Given the description of an element on the screen output the (x, y) to click on. 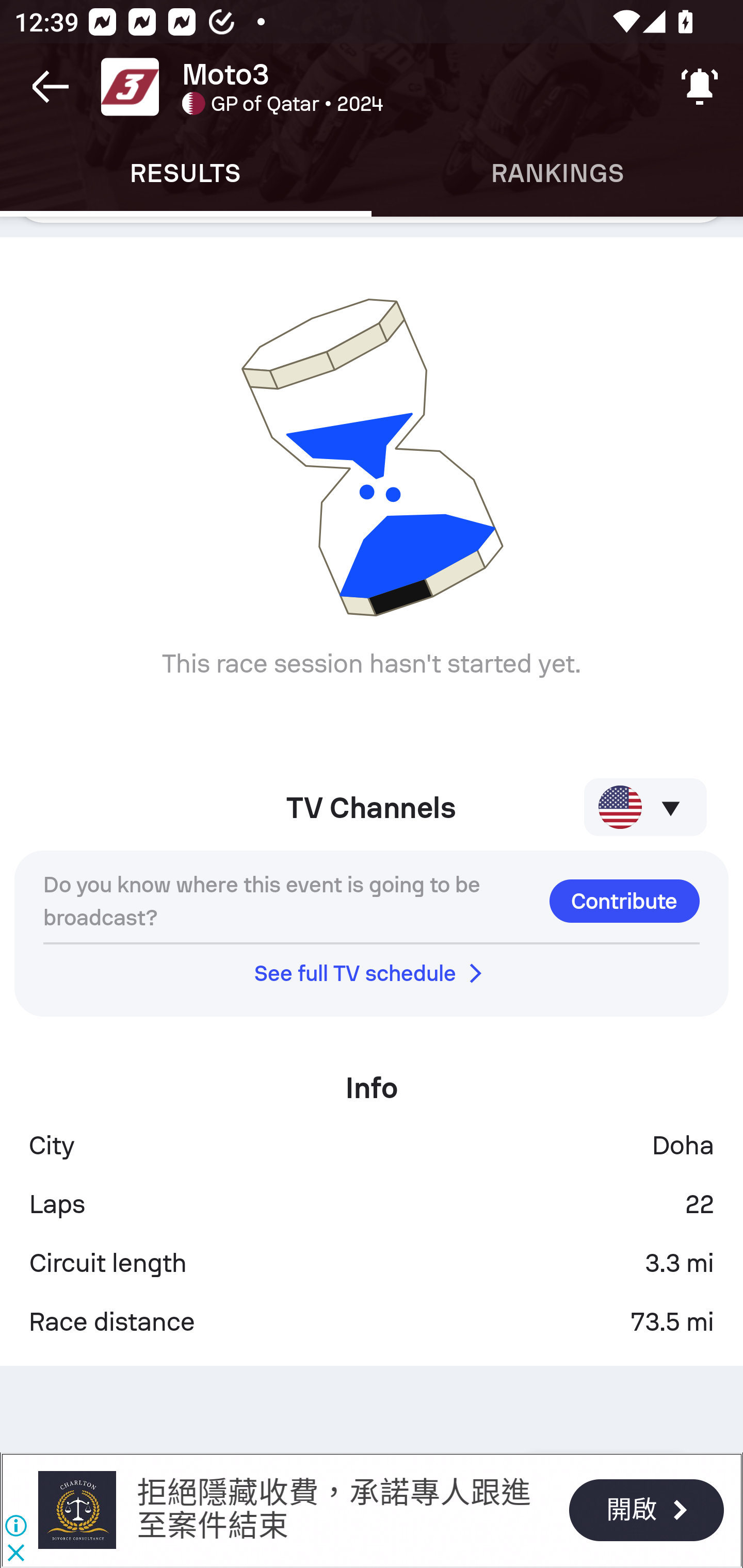
Navigate up (50, 86)
Rankings RANKINGS (557, 173)
Contribute (624, 900)
See full TV schedule (371, 972)
查爾頓事務所 (76, 1509)
拒絕隱藏收費，承諾專人跟進 至案件結束 拒絕隱藏收費，承諾專人跟進 至案件結束 (333, 1508)
開啟 (645, 1509)
